Given the description of an element on the screen output the (x, y) to click on. 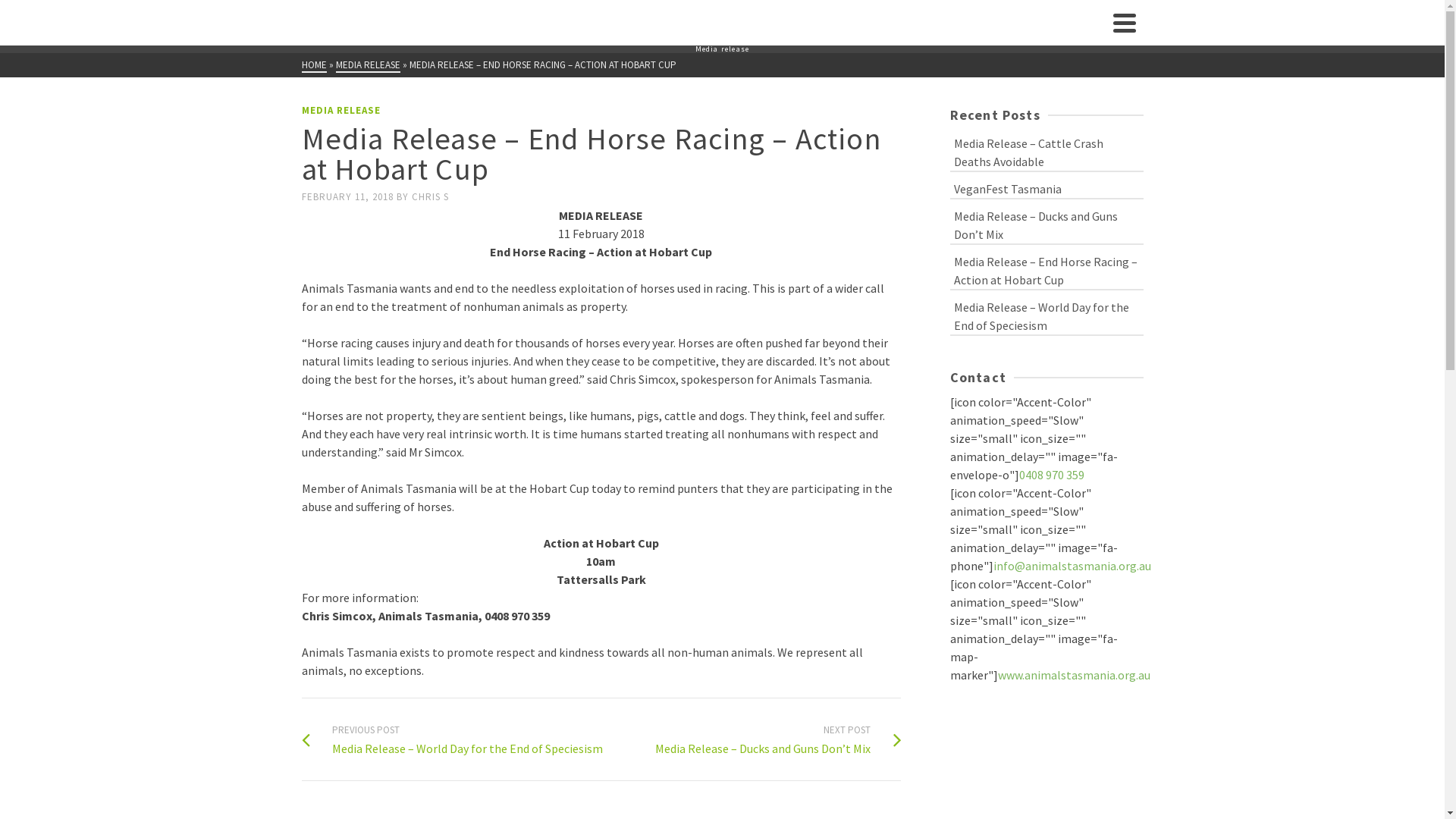
MEDIA RELEASE Element type: text (367, 65)
CHRIS S Element type: text (429, 196)
MEDIA RELEASE Element type: text (340, 109)
VeganFest Tasmania Element type: text (1045, 187)
HOME Element type: text (313, 65)
